Given the description of an element on the screen output the (x, y) to click on. 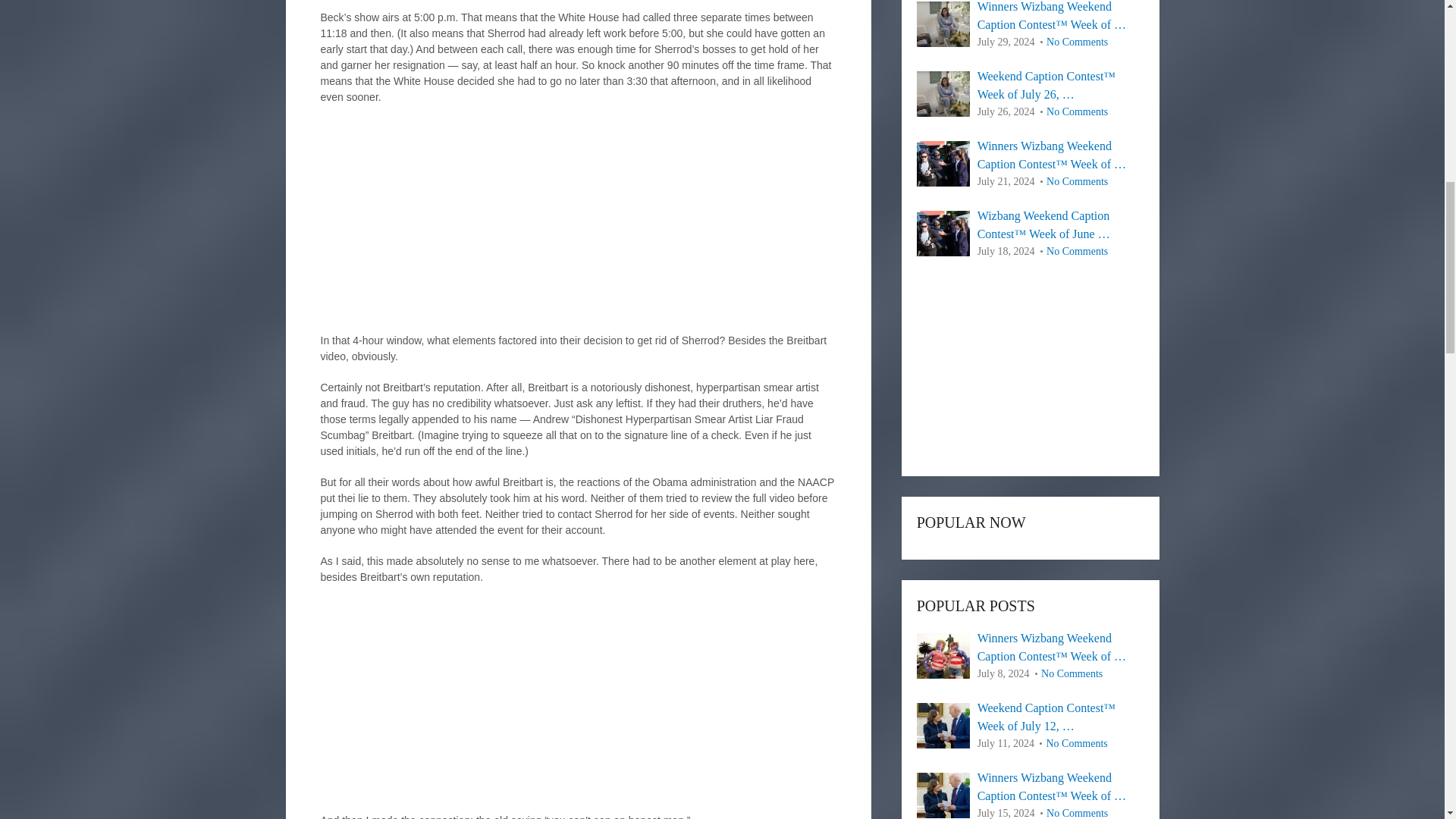
Advertisement (577, 226)
Advertisement (577, 706)
